Given the description of an element on the screen output the (x, y) to click on. 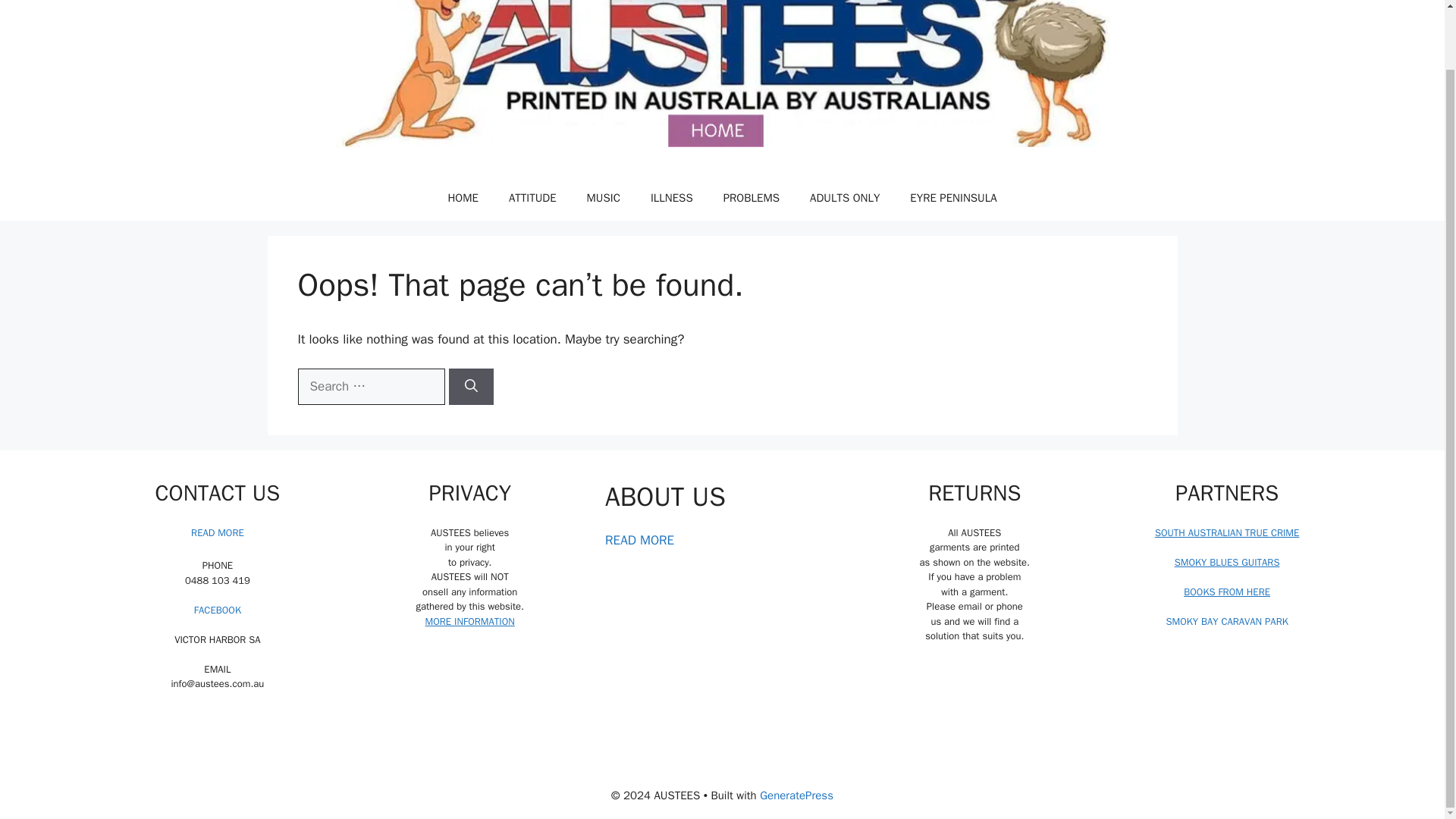
HOME (462, 197)
SOUTH AUSTRALIAN TRUE CRIME (1226, 532)
READ MORE (639, 539)
ATTITUDE (532, 197)
Search for: (370, 386)
BOOKS FROM HERE (1226, 591)
ILLNESS (670, 197)
MUSIC (603, 197)
GeneratePress (796, 795)
SMOKY BLUES GUITARS (1226, 562)
